Given the description of an element on the screen output the (x, y) to click on. 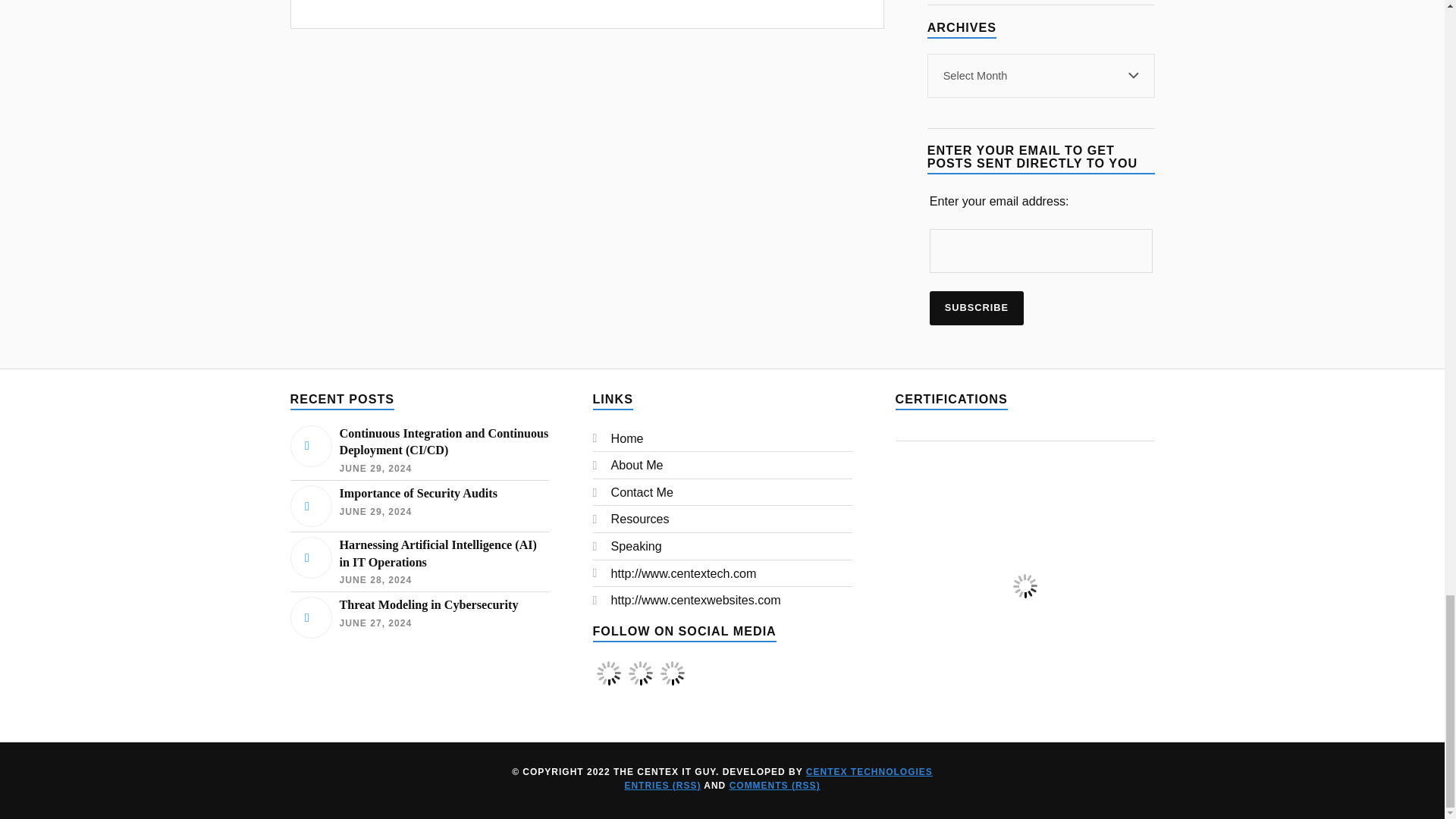
LinkedIn (671, 672)
Twitter (639, 672)
LinkedIn (672, 684)
Facebook (608, 684)
Facebook (607, 672)
Twitter (640, 684)
Subscribe (976, 308)
